Given the description of an element on the screen output the (x, y) to click on. 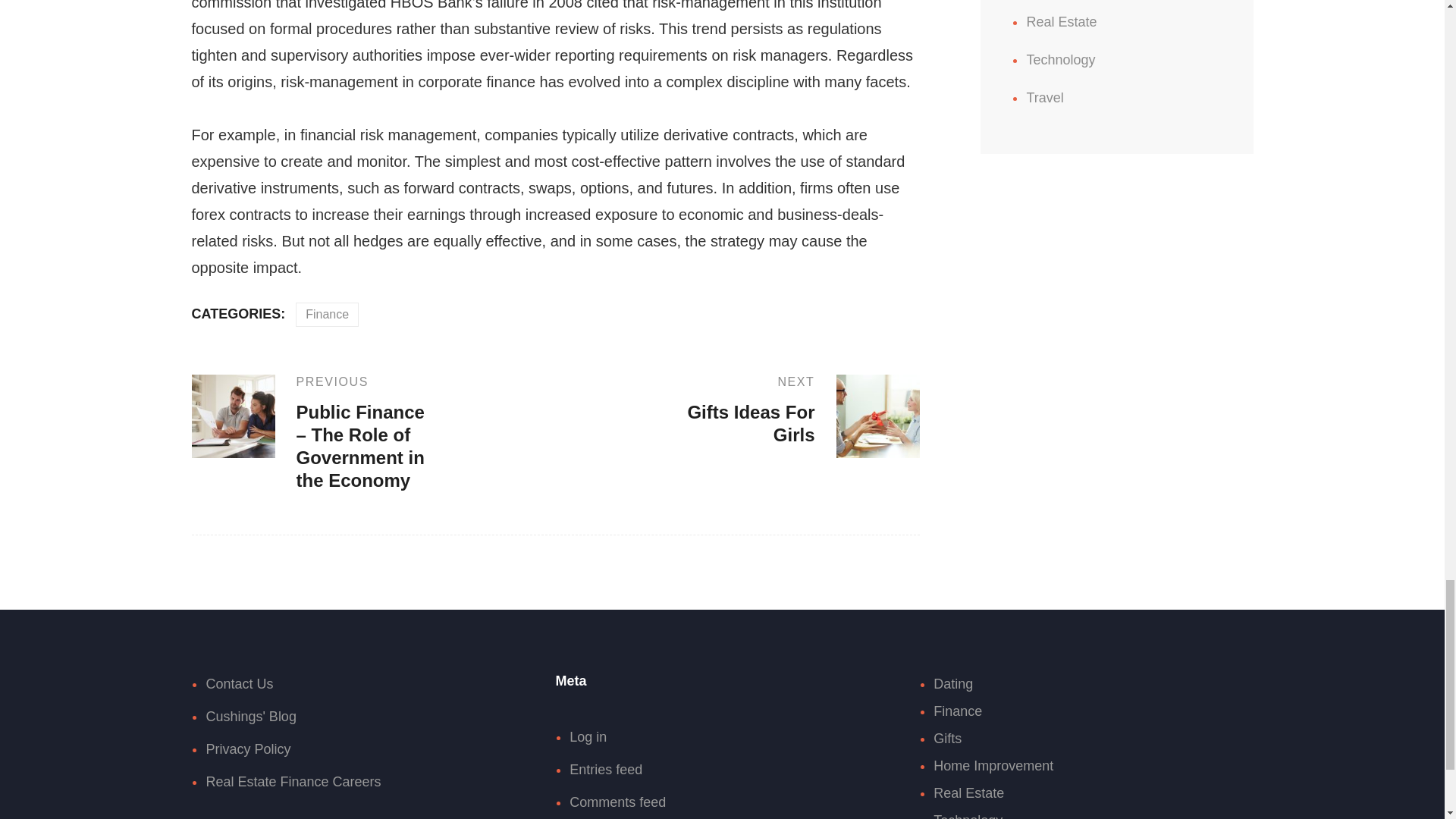
Finance (326, 314)
